Given the description of an element on the screen output the (x, y) to click on. 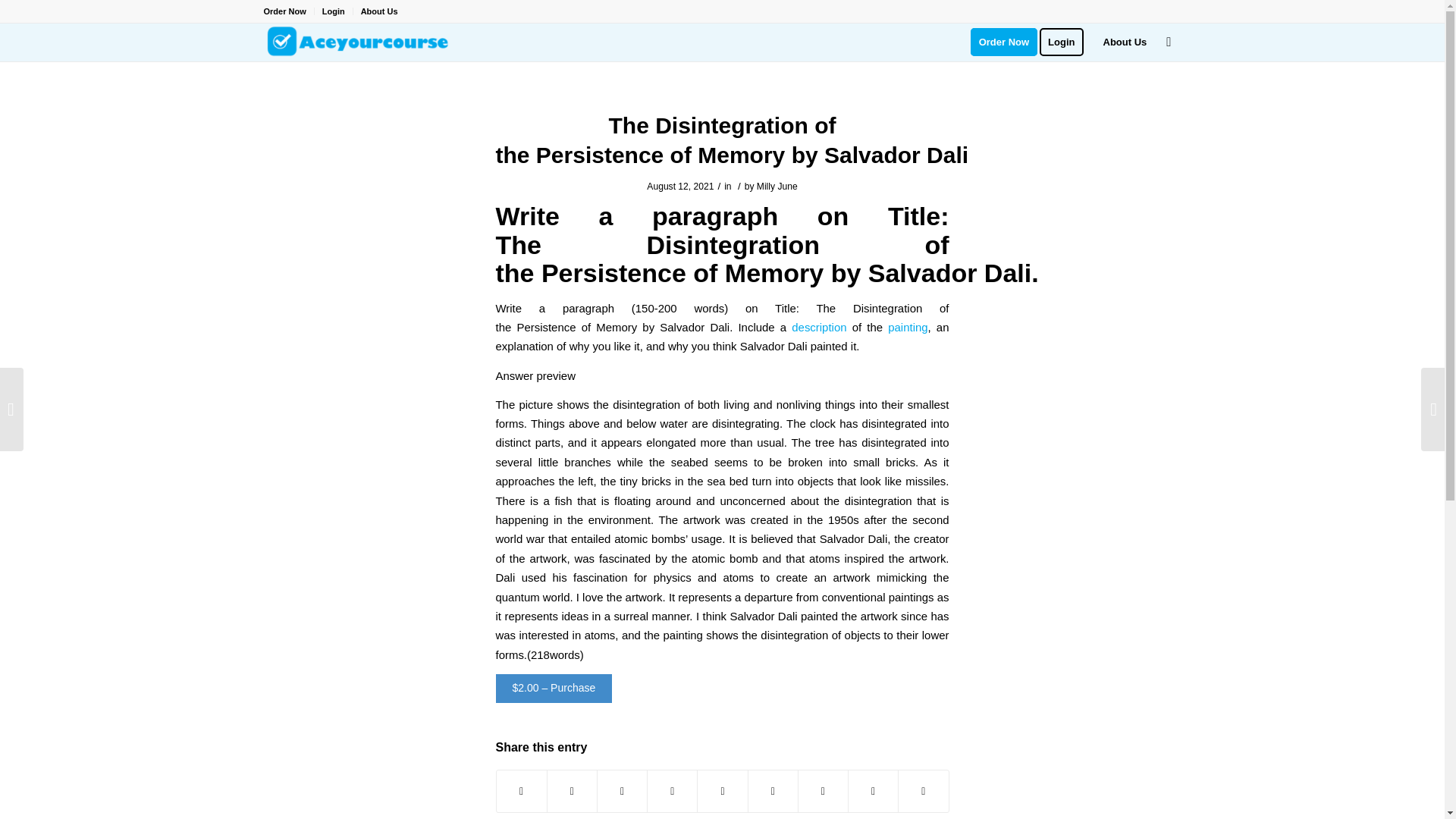
About Us (379, 11)
Order Now (284, 11)
Order Now (1003, 42)
painting (907, 327)
About Us (1125, 42)
Login (333, 11)
description (818, 327)
Login (1066, 42)
Posts by Milly June (777, 185)
Milly June (777, 185)
